Given the description of an element on the screen output the (x, y) to click on. 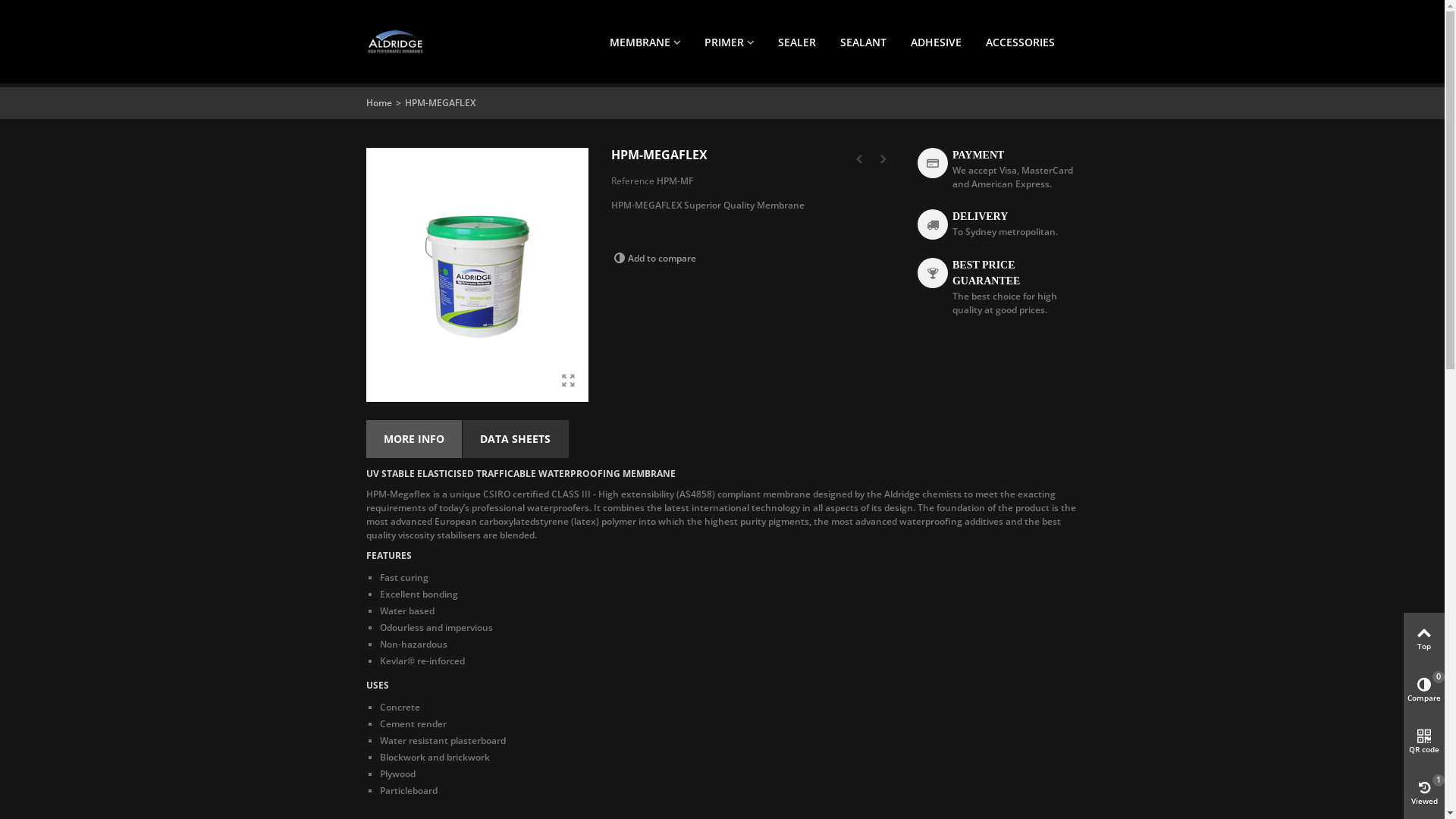
ADHESIVE Element type: text (935, 42)
Home Element type: text (378, 102)
PRIMER Element type: text (728, 42)
Add to compare Element type: text (653, 257)
QR code Element type: text (1423, 741)
SEALER Element type: text (796, 42)
HPM-MEGAFLEX Element type: hover (477, 274)
HPMA | Aldridge - High Performance Membranes Element type: hover (394, 40)
MEMBRANE Element type: text (644, 42)
View larger Element type: hover (567, 380)
DATA SHEETS Element type: text (515, 439)
Top Element type: text (1423, 638)
Compare
0 Element type: text (1423, 689)
ACCESSORIES Element type: text (1019, 42)
MORE INFO Element type: text (413, 439)
SEALANT Element type: text (863, 42)
